Given the description of an element on the screen output the (x, y) to click on. 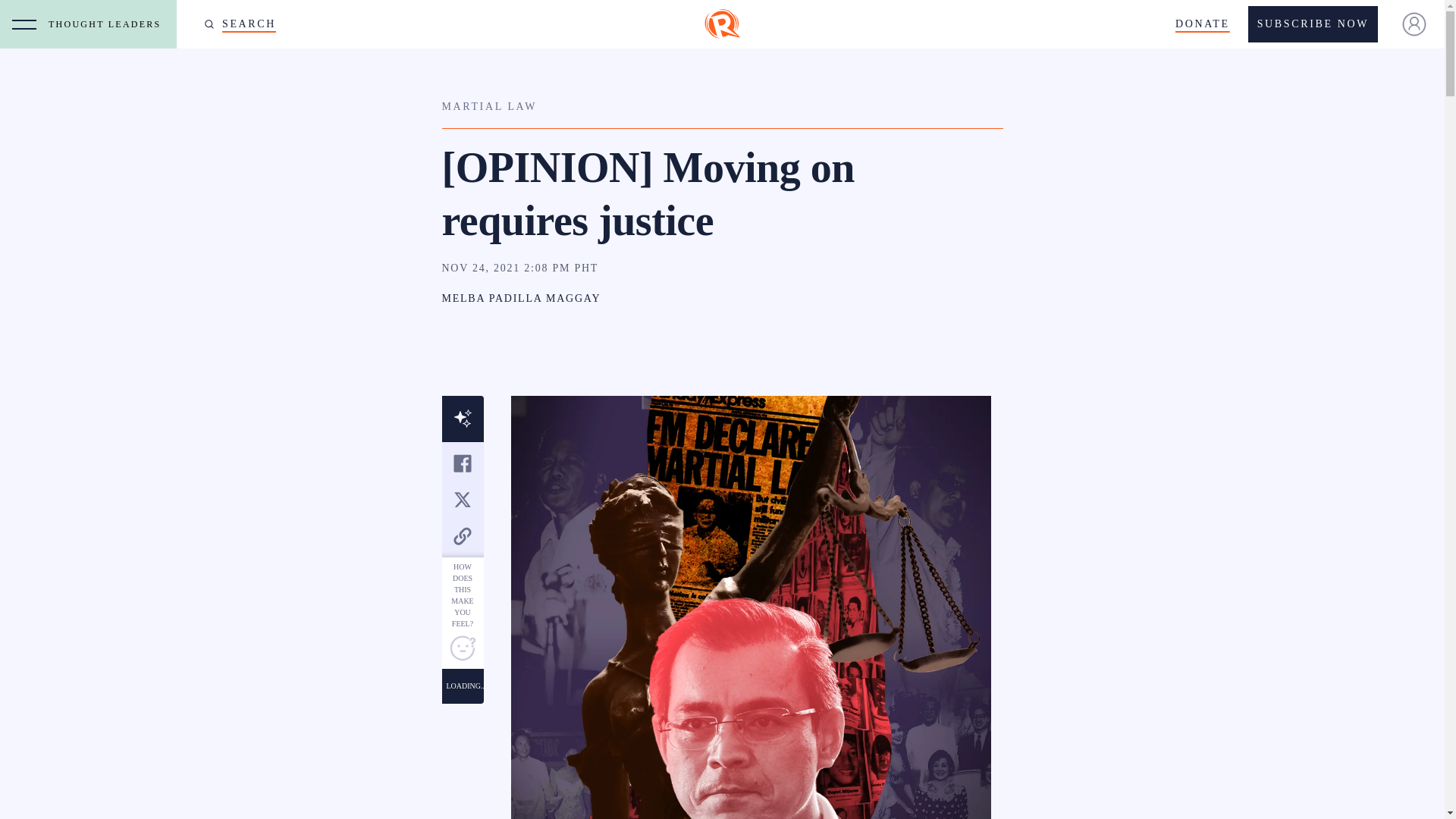
OPEN NAVIGATION (24, 24)
THOUGHT LEADERS (108, 23)
